Given the description of an element on the screen output the (x, y) to click on. 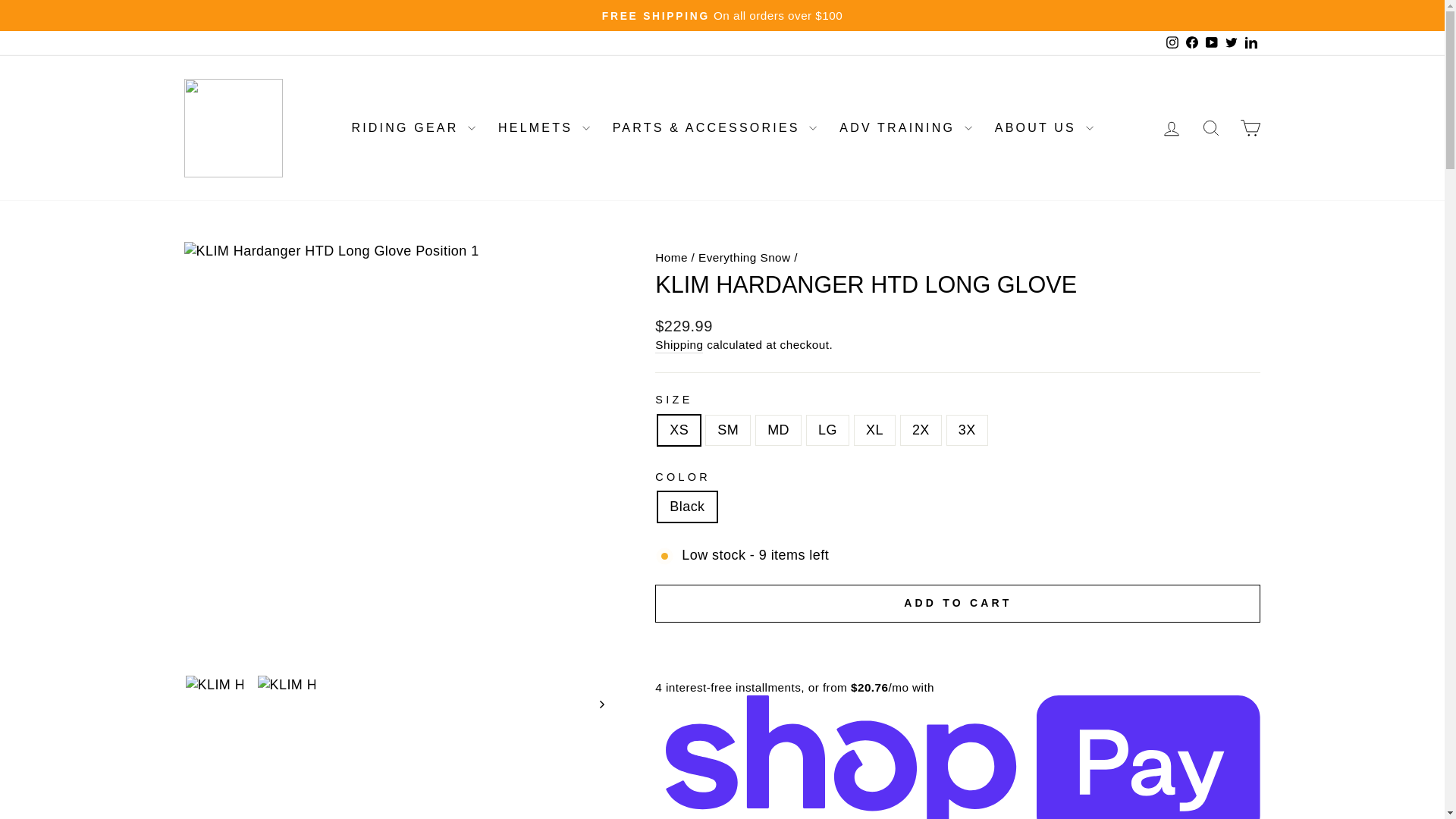
ACCOUNT (1170, 128)
Back to the frontpage (671, 256)
twitter (1231, 42)
ICON-SEARCH (1210, 127)
instagram (1171, 42)
